Given the description of an element on the screen output the (x, y) to click on. 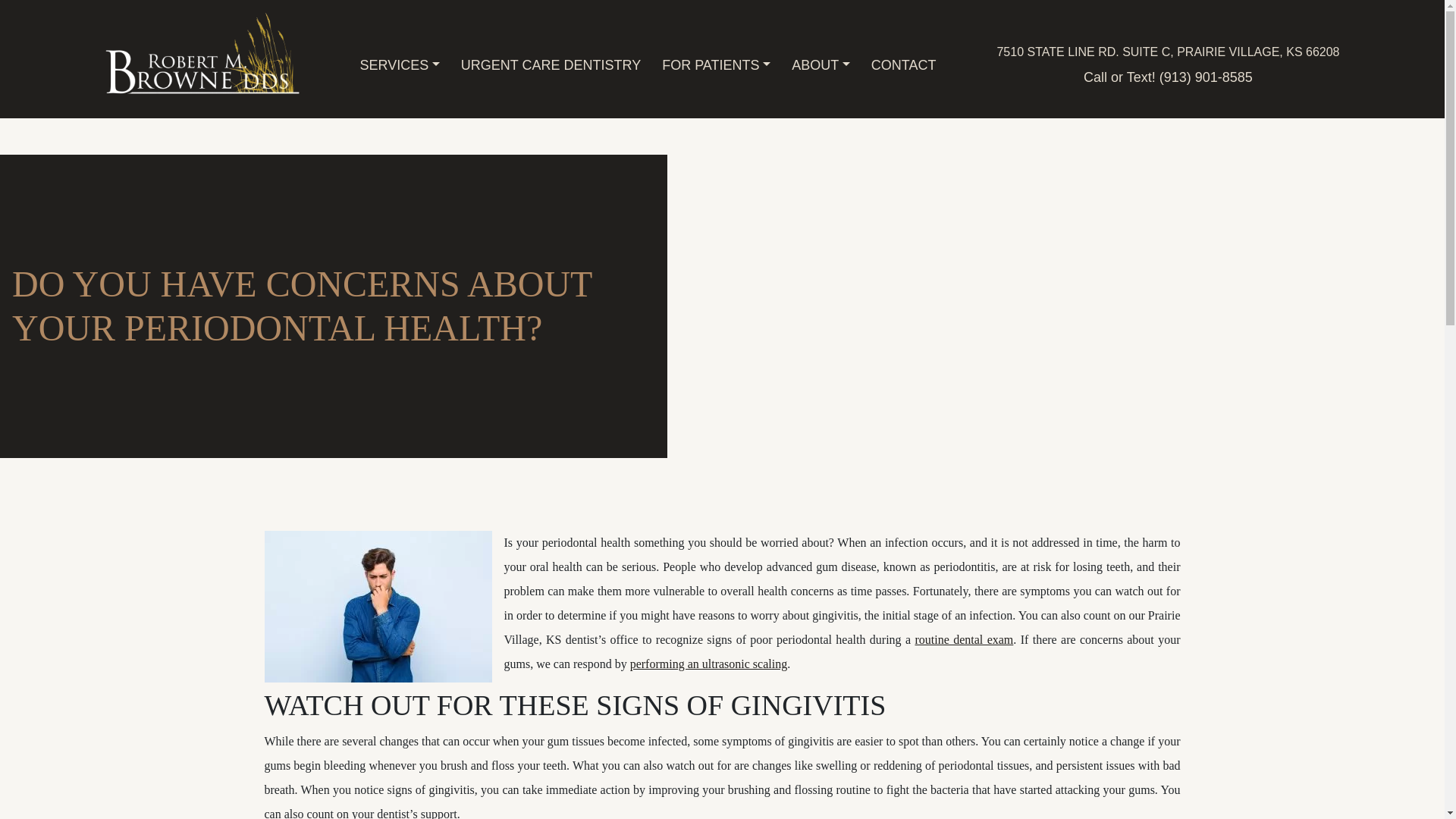
URGENT CARE DENTISTRY (550, 64)
SERVICES (399, 64)
ABOUT (821, 64)
routine dental exam (963, 639)
FOR PATIENTS (716, 64)
Urgent Care Dentistry (550, 64)
For Patients (716, 64)
Services (399, 64)
About (821, 64)
performing an ultrasonic scaling (708, 663)
